Given the description of an element on the screen output the (x, y) to click on. 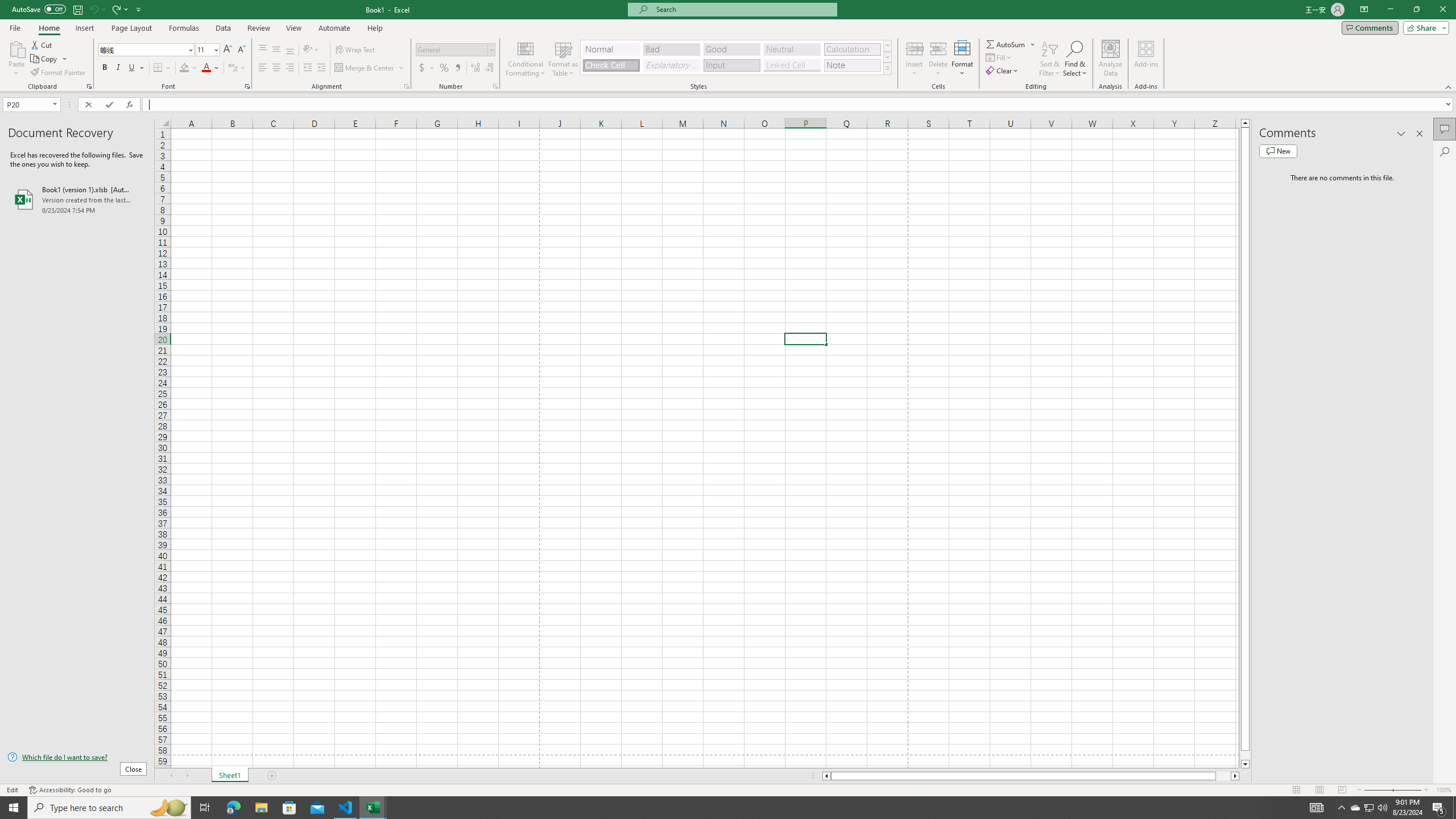
Increase Font Size (227, 49)
Font Color RGB(255, 0, 0) (206, 67)
Paste (16, 48)
Copy (45, 58)
Format Cell Alignment (405, 85)
Format as Table (563, 58)
Sort & Filter (1049, 58)
Format Cell Number (494, 85)
Top Align (262, 49)
Accounting Number Format (426, 67)
Increase Decimal (474, 67)
